Given the description of an element on the screen output the (x, y) to click on. 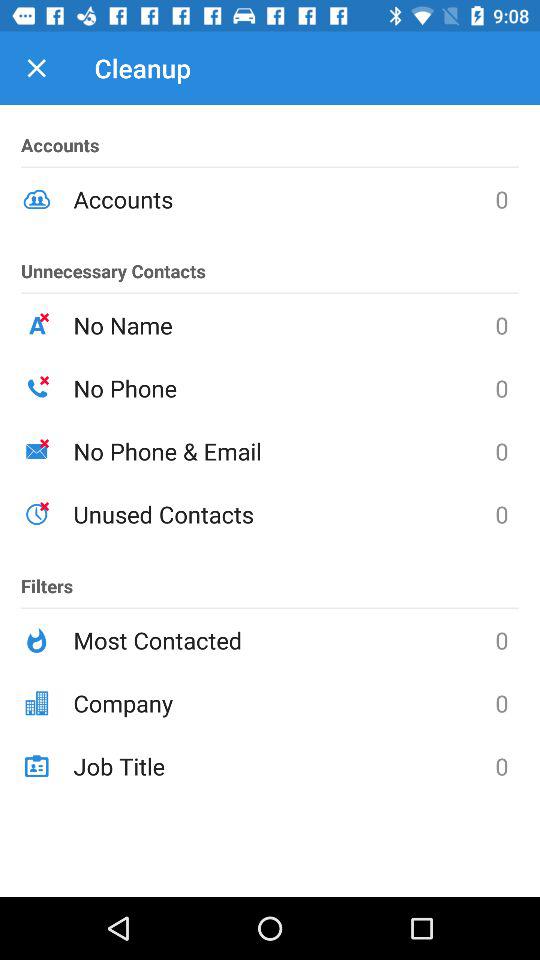
turn off the icon above accounts (36, 68)
